Given the description of an element on the screen output the (x, y) to click on. 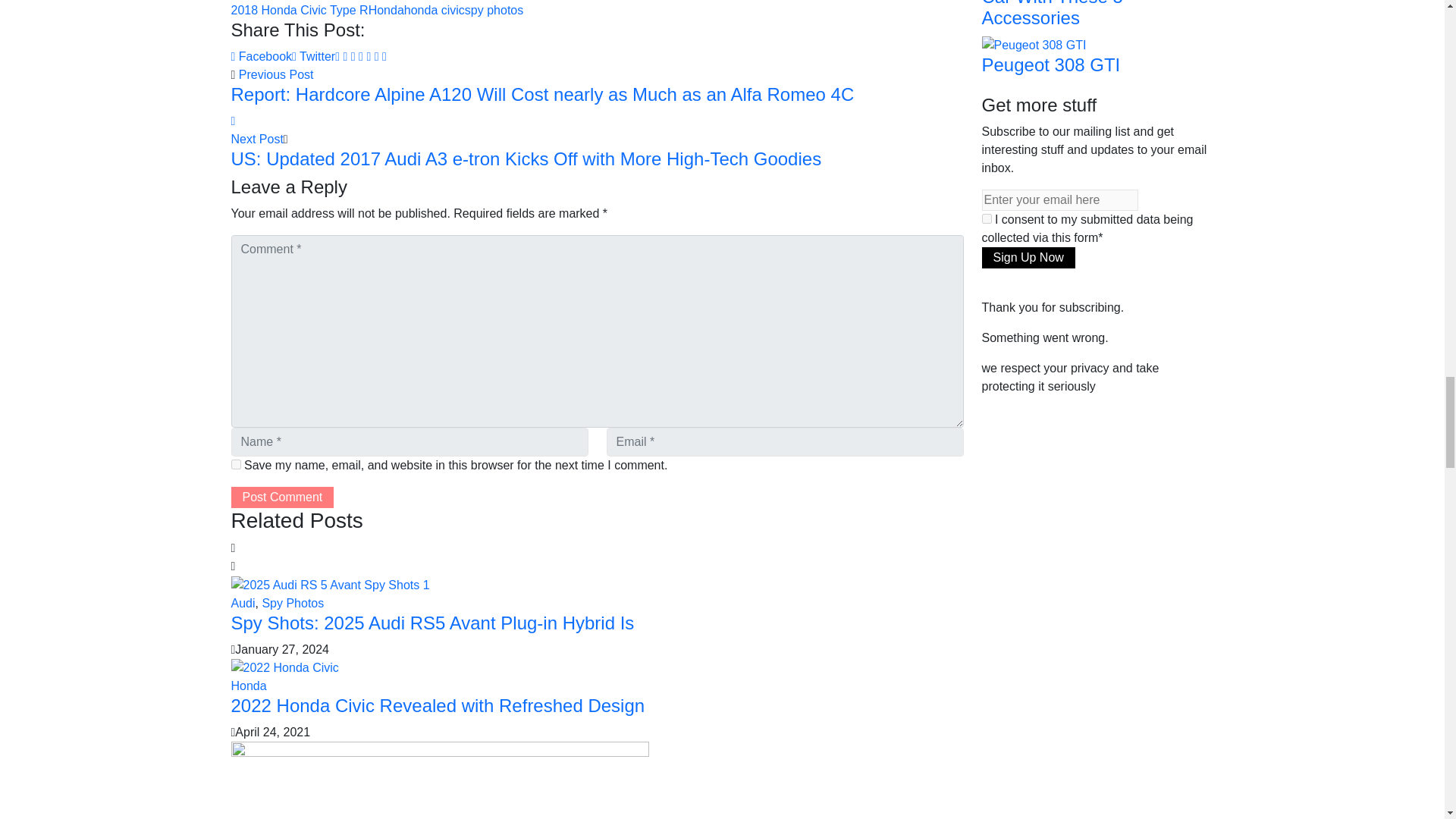
yes (235, 464)
Post Comment (281, 496)
Sign Up Now (1027, 257)
on (986, 218)
